Given the description of an element on the screen output the (x, y) to click on. 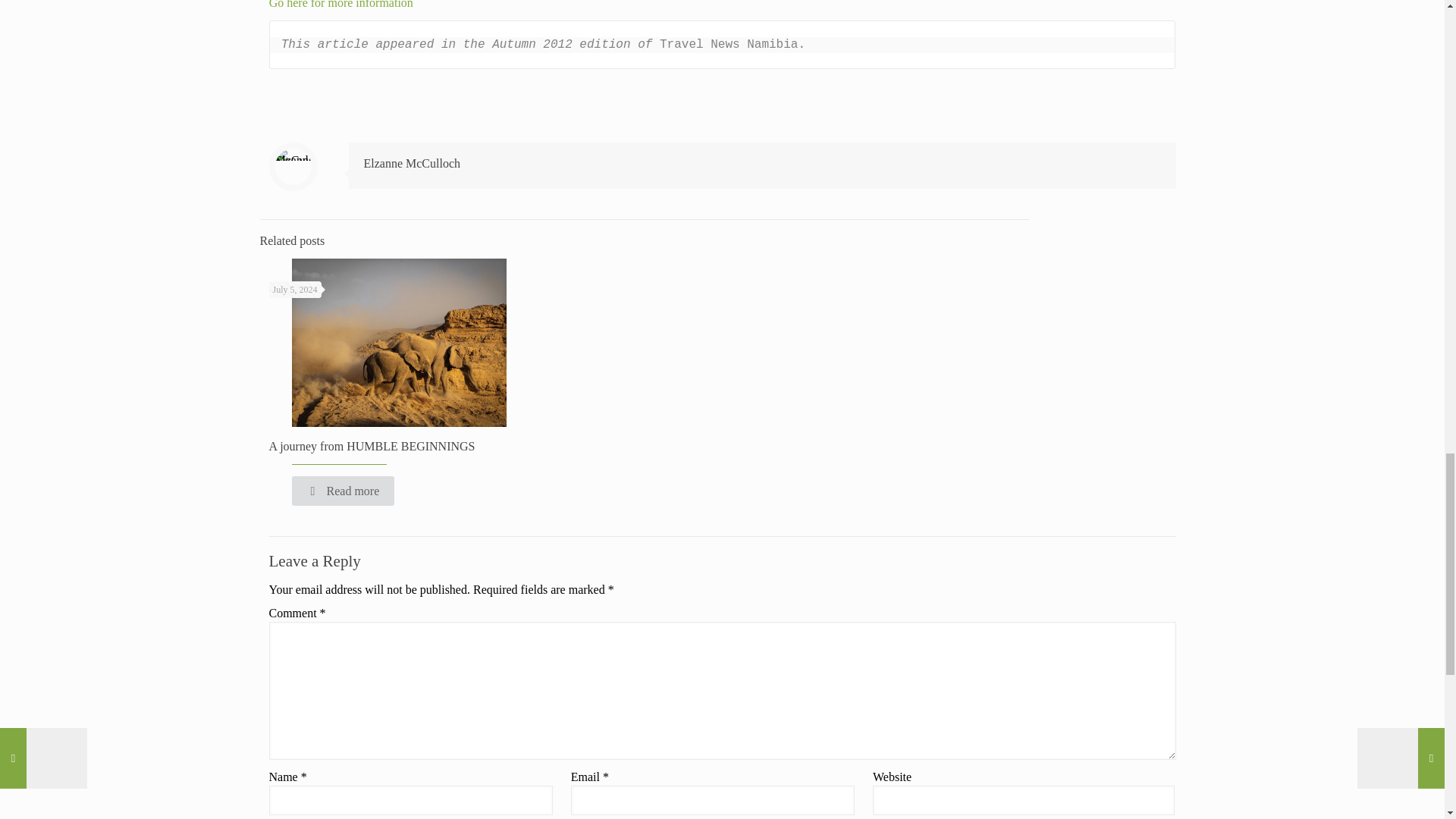
Elzanne McCulloch (412, 163)
A journey from HUMBLE BEGINNINGS (370, 445)
Go here for more information (341, 4)
Read more (342, 490)
